Given the description of an element on the screen output the (x, y) to click on. 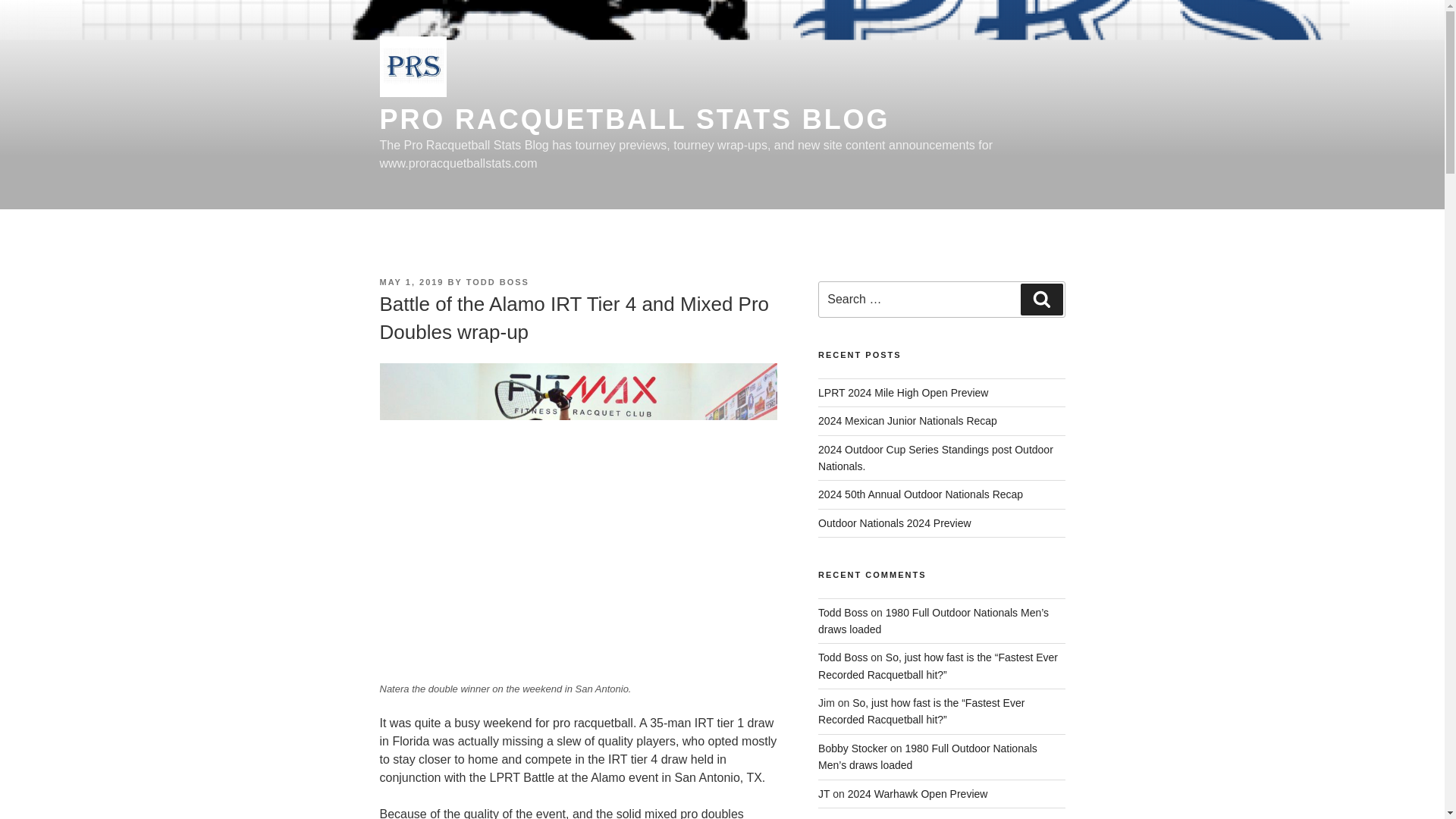
MAY 1, 2019 (411, 281)
TODD BOSS (497, 281)
PRO RACQUETBALL STATS BLOG (633, 119)
